Given the description of an element on the screen output the (x, y) to click on. 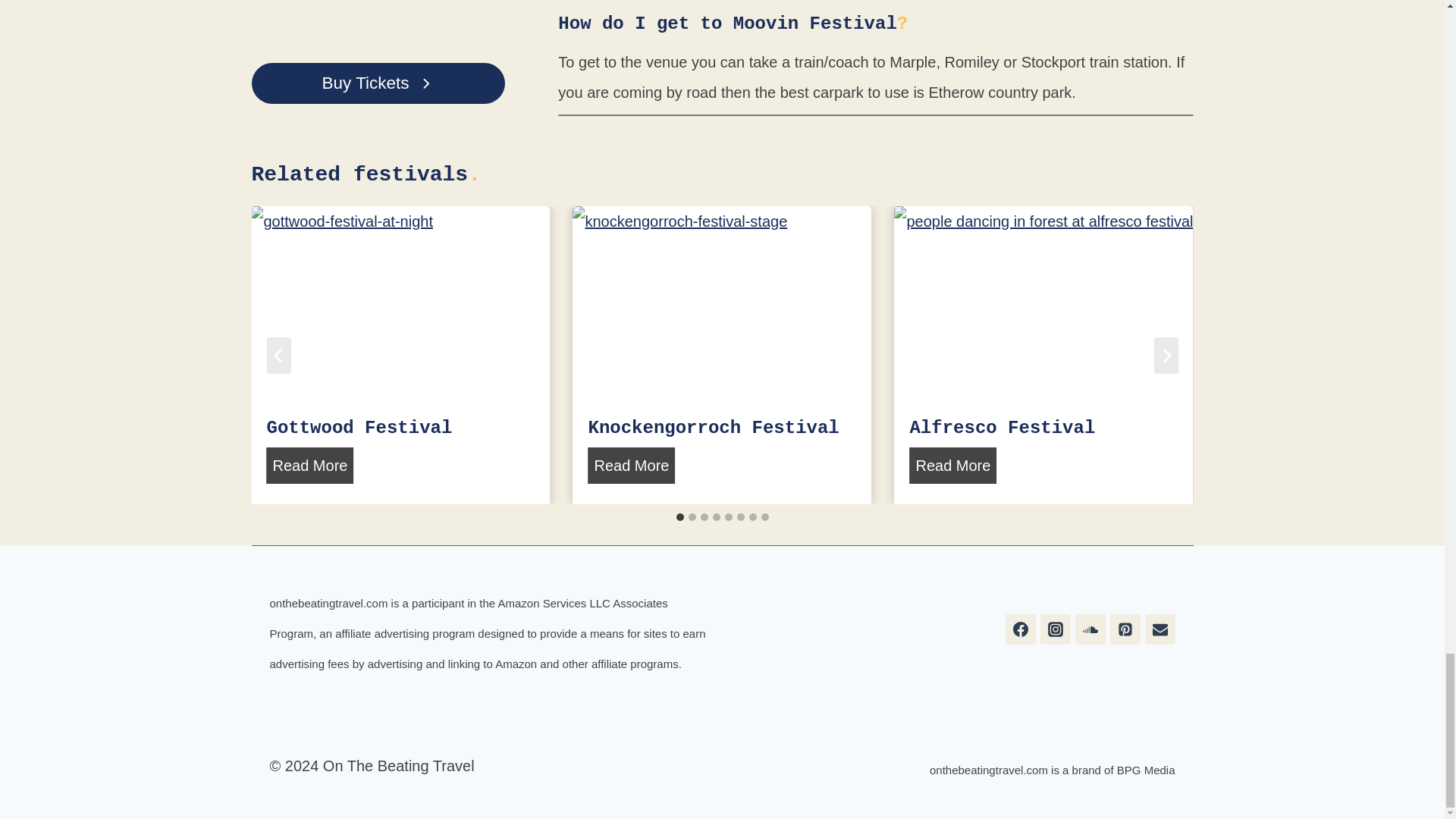
Knockengorroch Festival 2 (721, 305)
Alfresco Festival 3 (1042, 305)
Gottwood Festival 1 (400, 305)
